Given the description of an element on the screen output the (x, y) to click on. 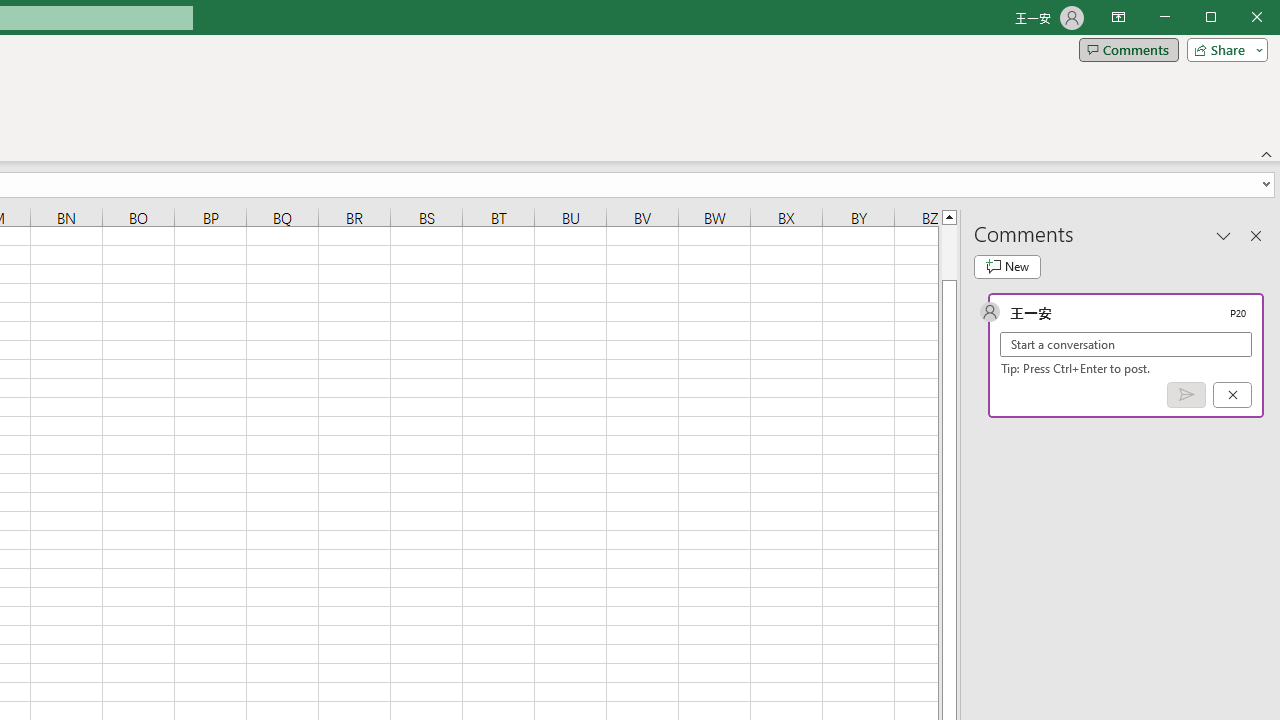
New comment (1007, 266)
Cancel (1232, 395)
Maximize (1239, 18)
Post comment (Ctrl + Enter) (1186, 395)
Page up (948, 252)
